Given the description of an element on the screen output the (x, y) to click on. 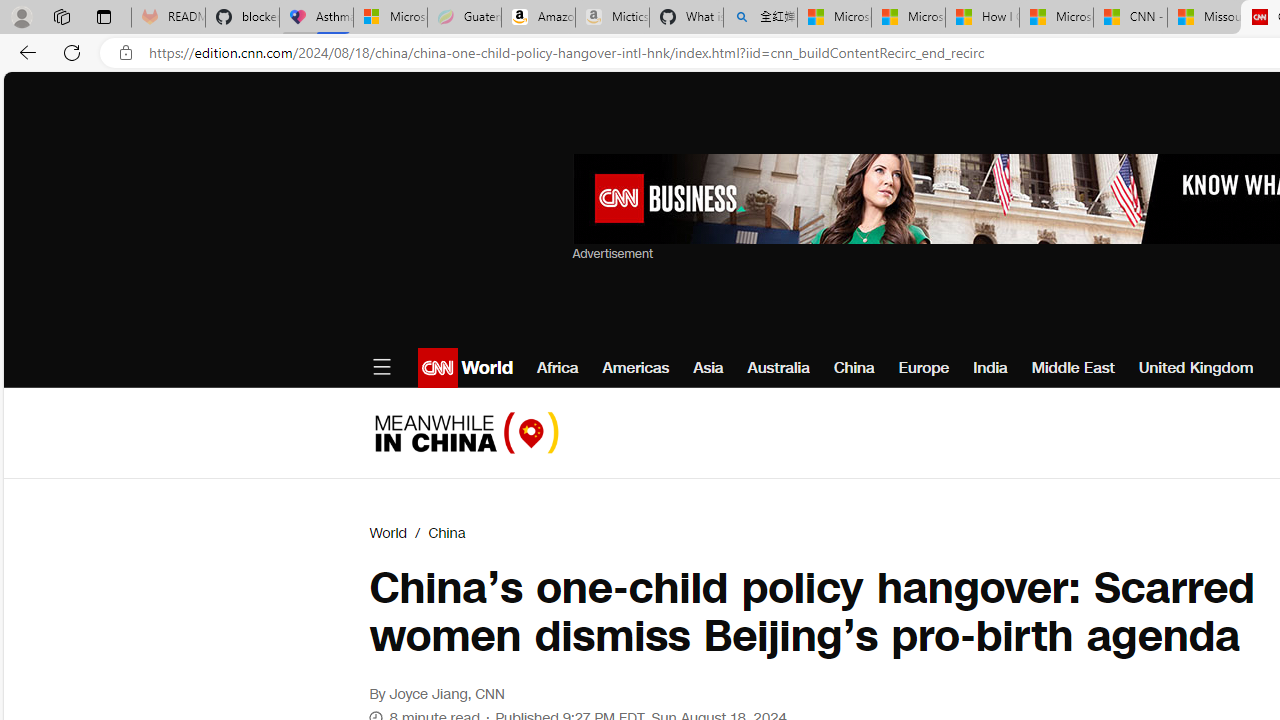
World (388, 533)
Meanwhile in China (465, 432)
United Kingdom (1195, 367)
